Given the description of an element on the screen output the (x, y) to click on. 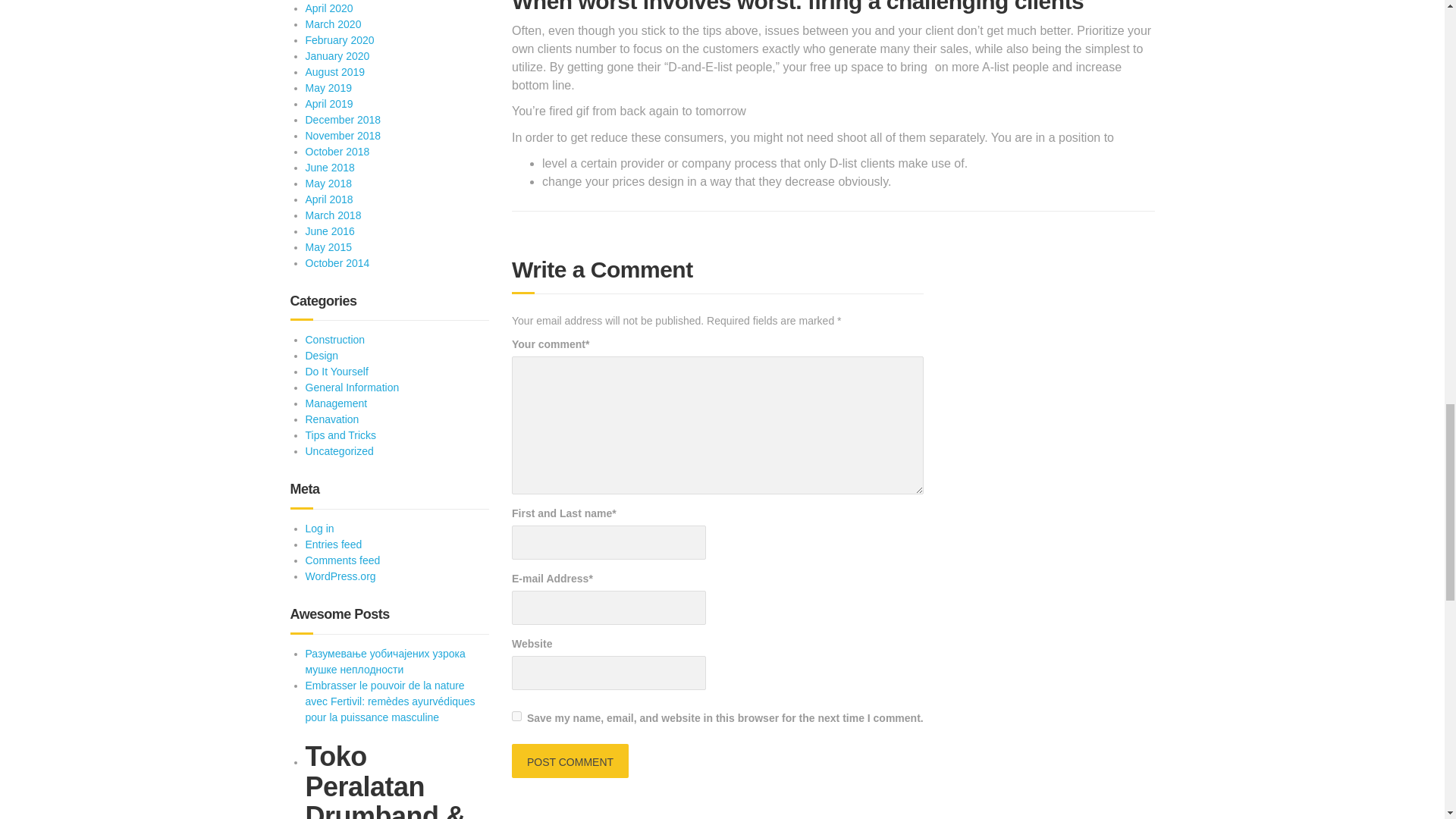
Post Comment (570, 760)
yes (516, 716)
Post Comment (570, 760)
